Given the description of an element on the screen output the (x, y) to click on. 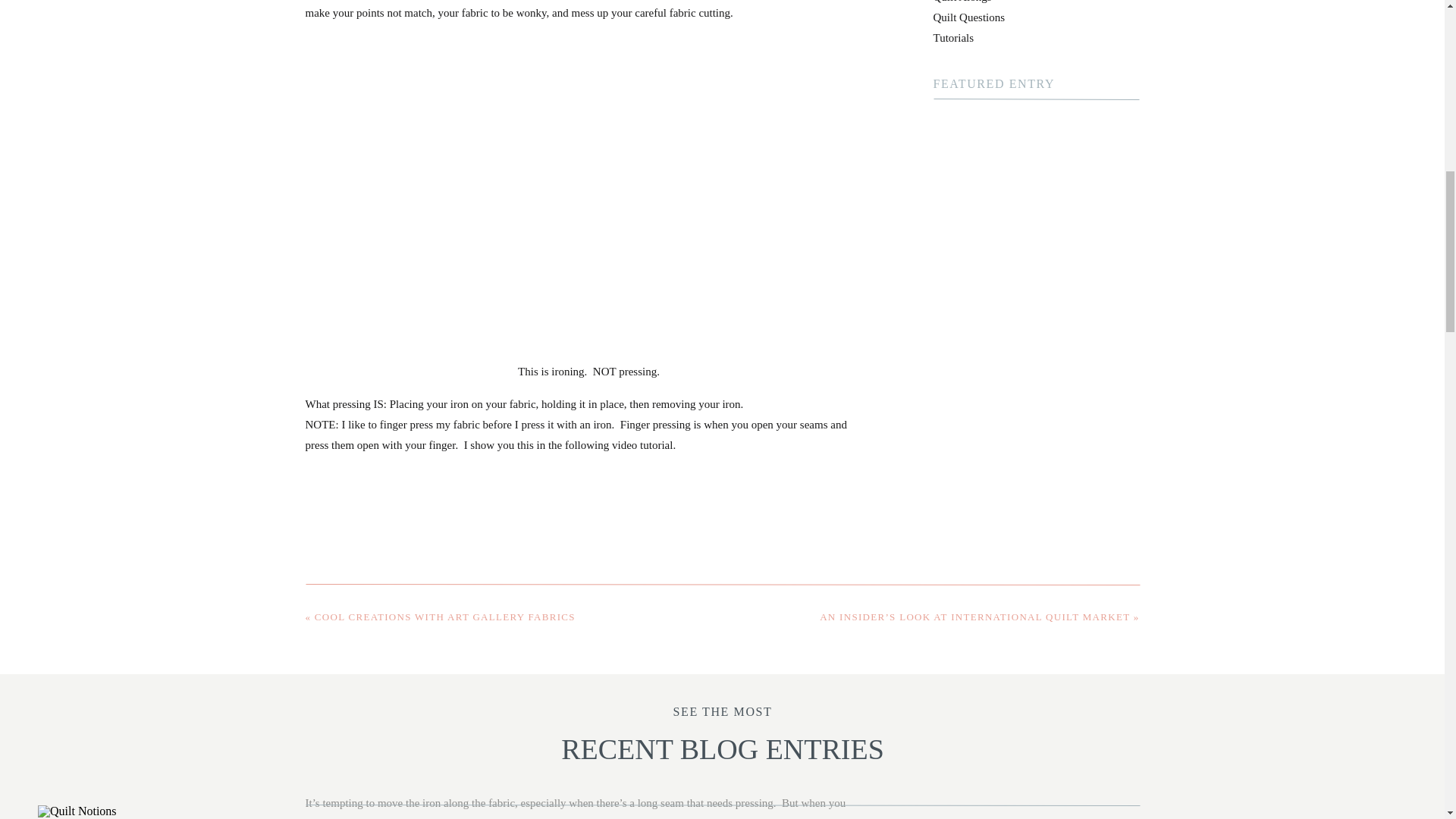
PRESSING YOUR FABRIC (169, 812)
COOL CREATIONS WITH ART GALLERY FABRICS (444, 616)
Tutorials (953, 37)
Quilt Questions (968, 17)
Quilt Alongs (962, 1)
